Given the description of an element on the screen output the (x, y) to click on. 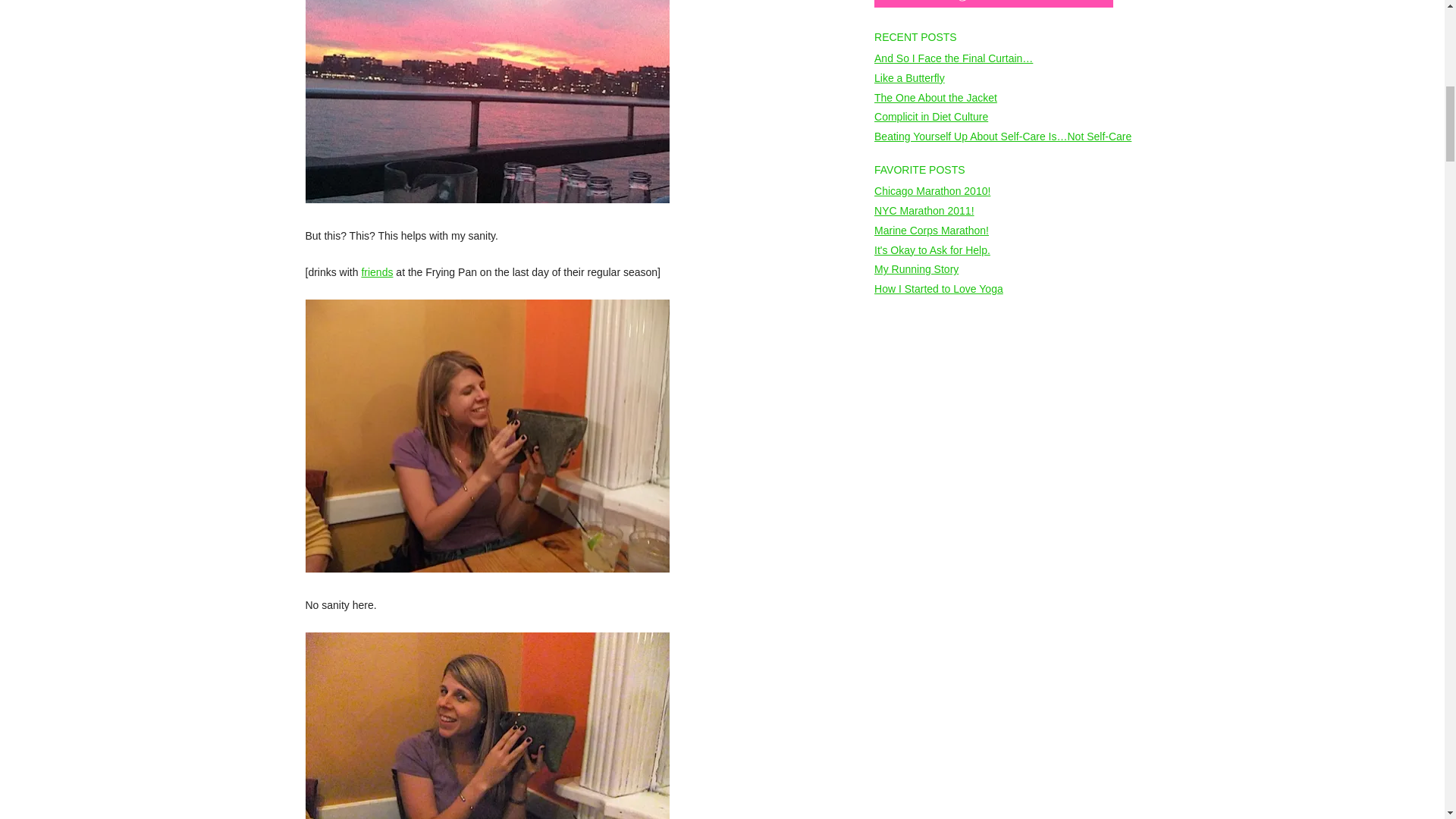
friends (377, 272)
